Given the description of an element on the screen output the (x, y) to click on. 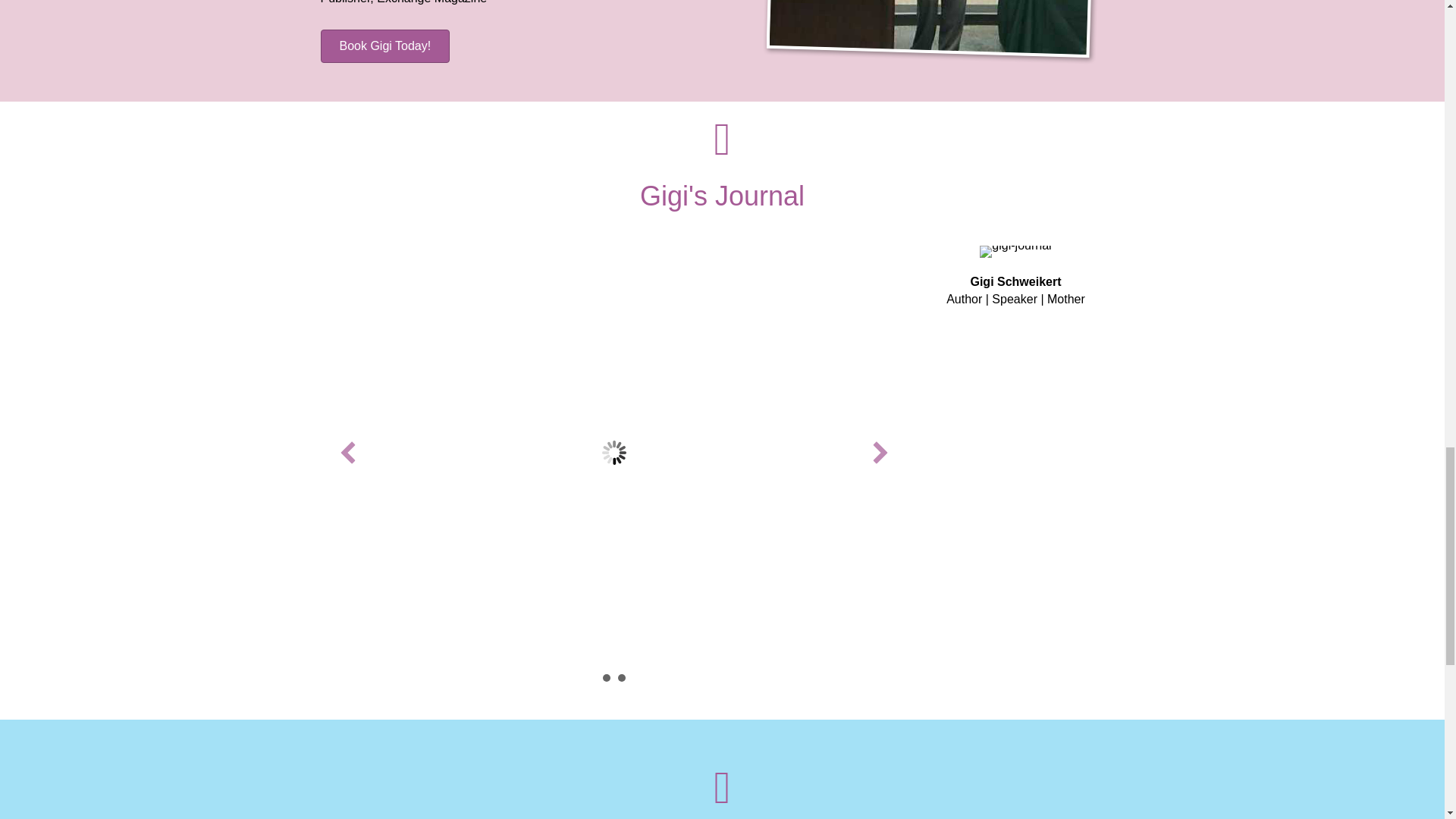
1 (606, 677)
GigiSpeaking2 (931, 35)
gigi-journal (1015, 251)
Book Gigi Today! (384, 46)
2 (620, 677)
